Given the description of an element on the screen output the (x, y) to click on. 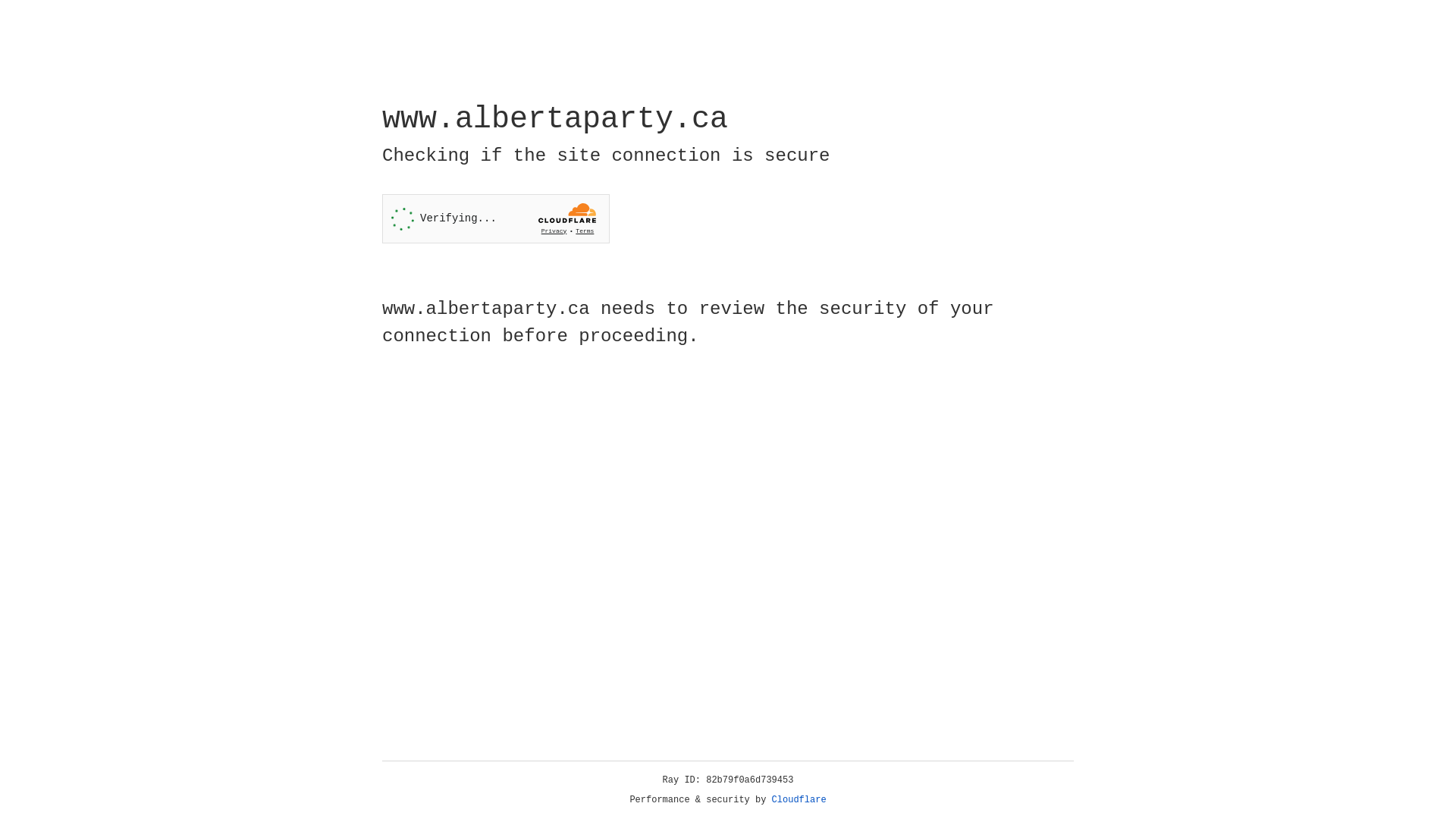
Widget containing a Cloudflare security challenge Element type: hover (495, 218)
Cloudflare Element type: text (798, 799)
